Given the description of an element on the screen output the (x, y) to click on. 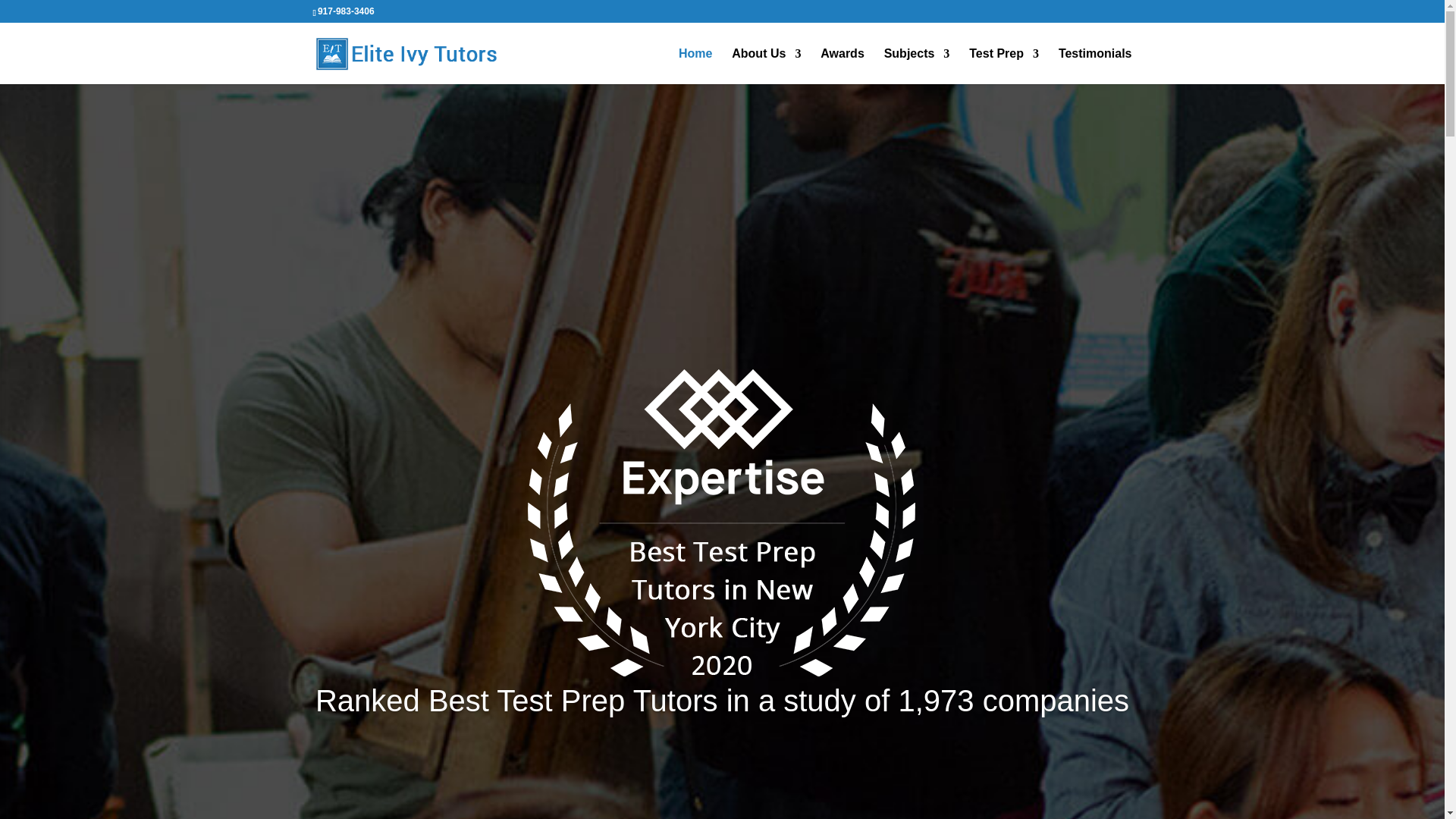
Subjects (916, 66)
Awards (842, 66)
Test Prep (1004, 66)
Testimonials (1095, 66)
About Us (766, 66)
Home (694, 66)
